Given the description of an element on the screen output the (x, y) to click on. 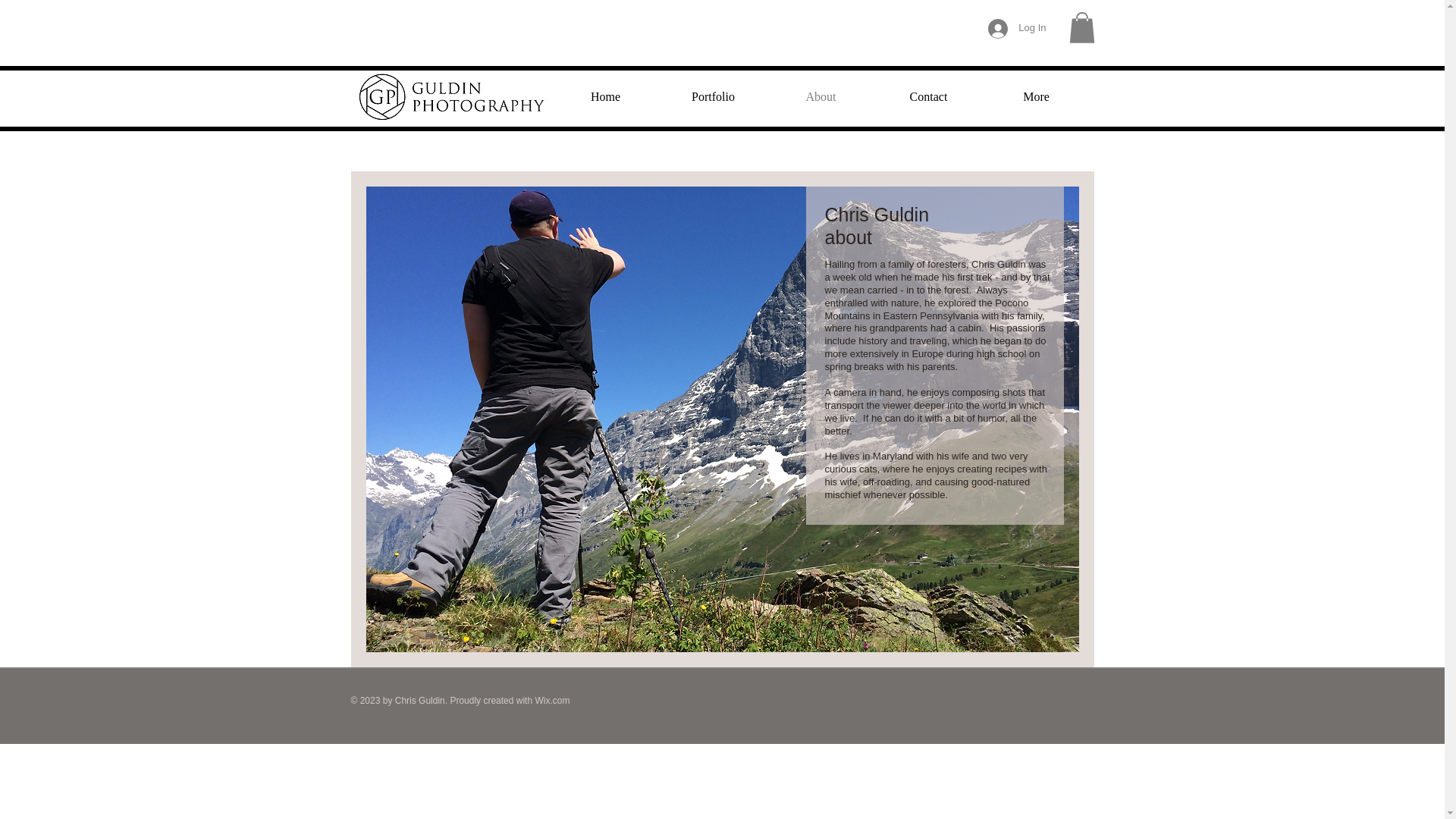
Contact (928, 96)
About (821, 96)
Wix.com (551, 700)
Log In (1016, 27)
Portfolio (713, 96)
Home (605, 96)
